Given the description of an element on the screen output the (x, y) to click on. 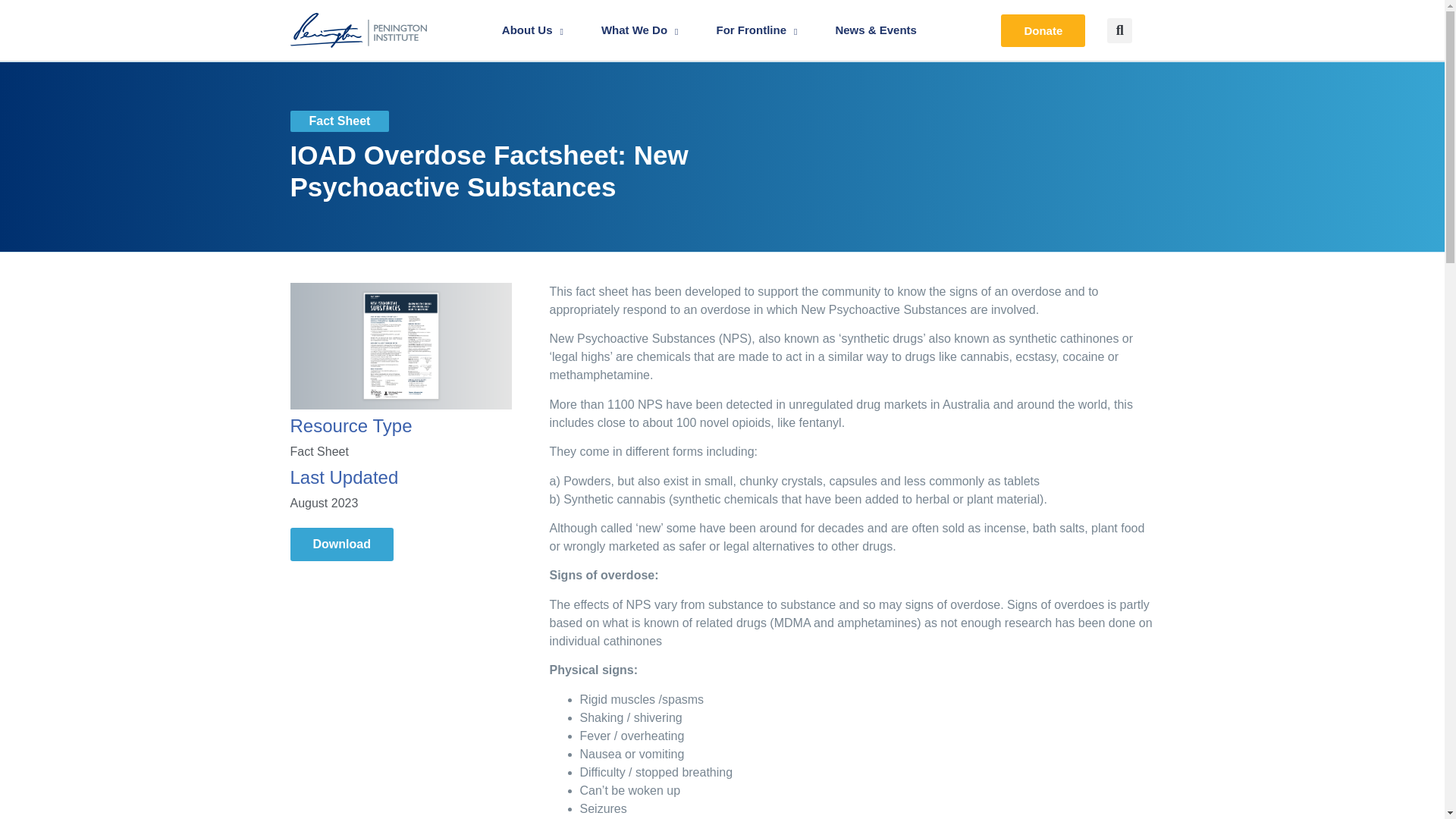
What We Do (639, 30)
IOAD Overdose Factsheet new Psychoactive (400, 345)
Donate (1042, 29)
For Frontline (756, 30)
About Us (532, 30)
